Given the description of an element on the screen output the (x, y) to click on. 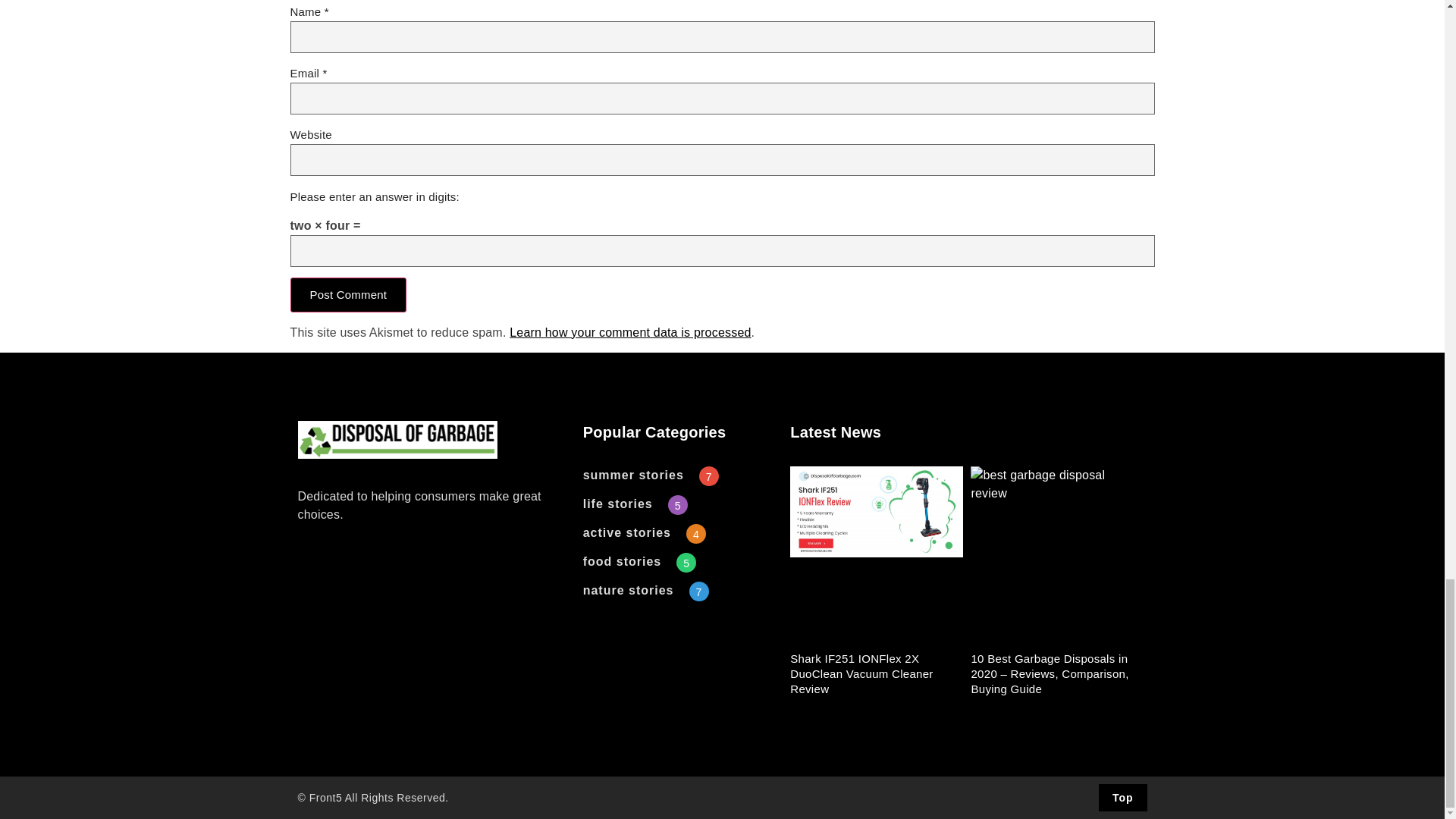
life stories (617, 504)
Shark IF251 IONFlex 2X DuoClean Vacuum Cleaner Review (861, 673)
active stories (627, 533)
Learn how your comment data is processed (630, 332)
Post Comment (347, 294)
food stories (622, 561)
summer stories (633, 475)
nature stories (628, 590)
Post Comment (347, 294)
